Given the description of an element on the screen output the (x, y) to click on. 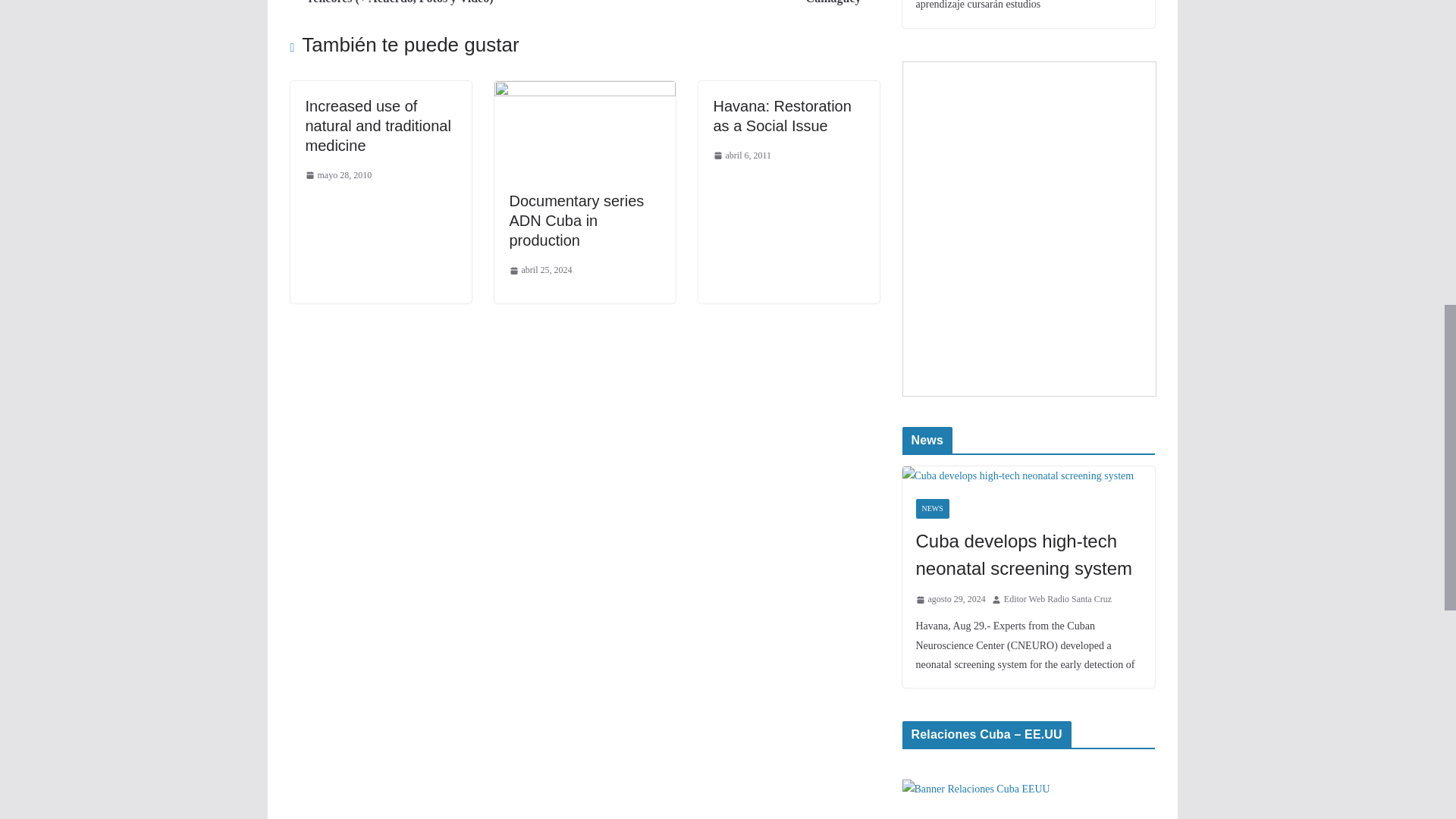
Havana: Restoration as a Social Issue (781, 115)
Havana: Restoration as a Social Issue (781, 115)
mayo 28, 2010 (337, 175)
12:00 am (337, 175)
abril 6, 2011 (742, 156)
Documentary series ADN Cuba in production (585, 91)
Documentary series ADN Cuba in production (577, 220)
Increased use of natural and traditional medicine (376, 125)
Documentary series ADN Cuba in production (577, 220)
12:00 am (742, 156)
